Given the description of an element on the screen output the (x, y) to click on. 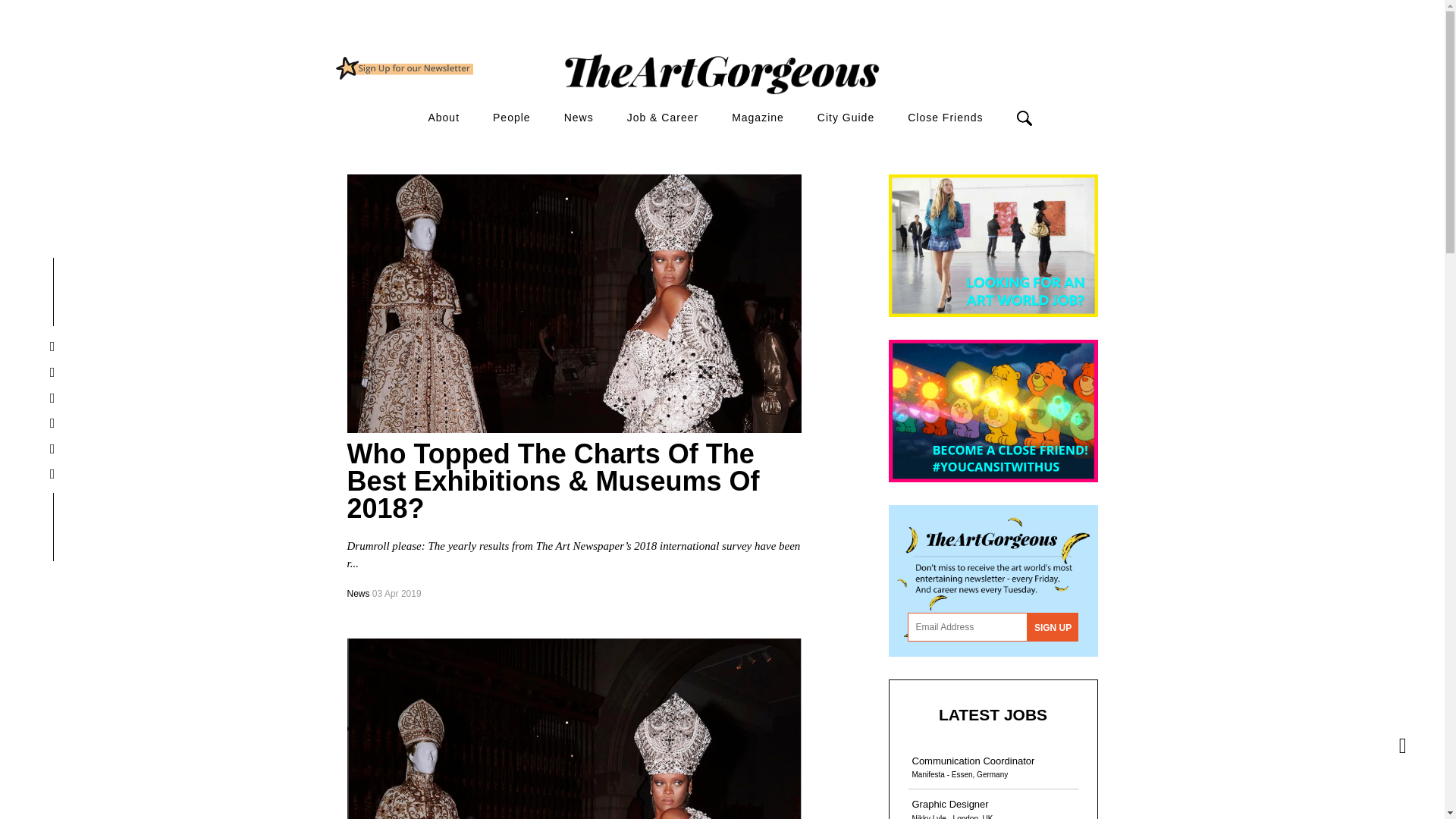
City Guide (845, 117)
People (512, 117)
TheArtGorgeous (403, 67)
Close Friends (944, 117)
search (911, 144)
About (444, 117)
News (579, 117)
SIGN UP (1052, 626)
Magazine (758, 117)
